Given the description of an element on the screen output the (x, y) to click on. 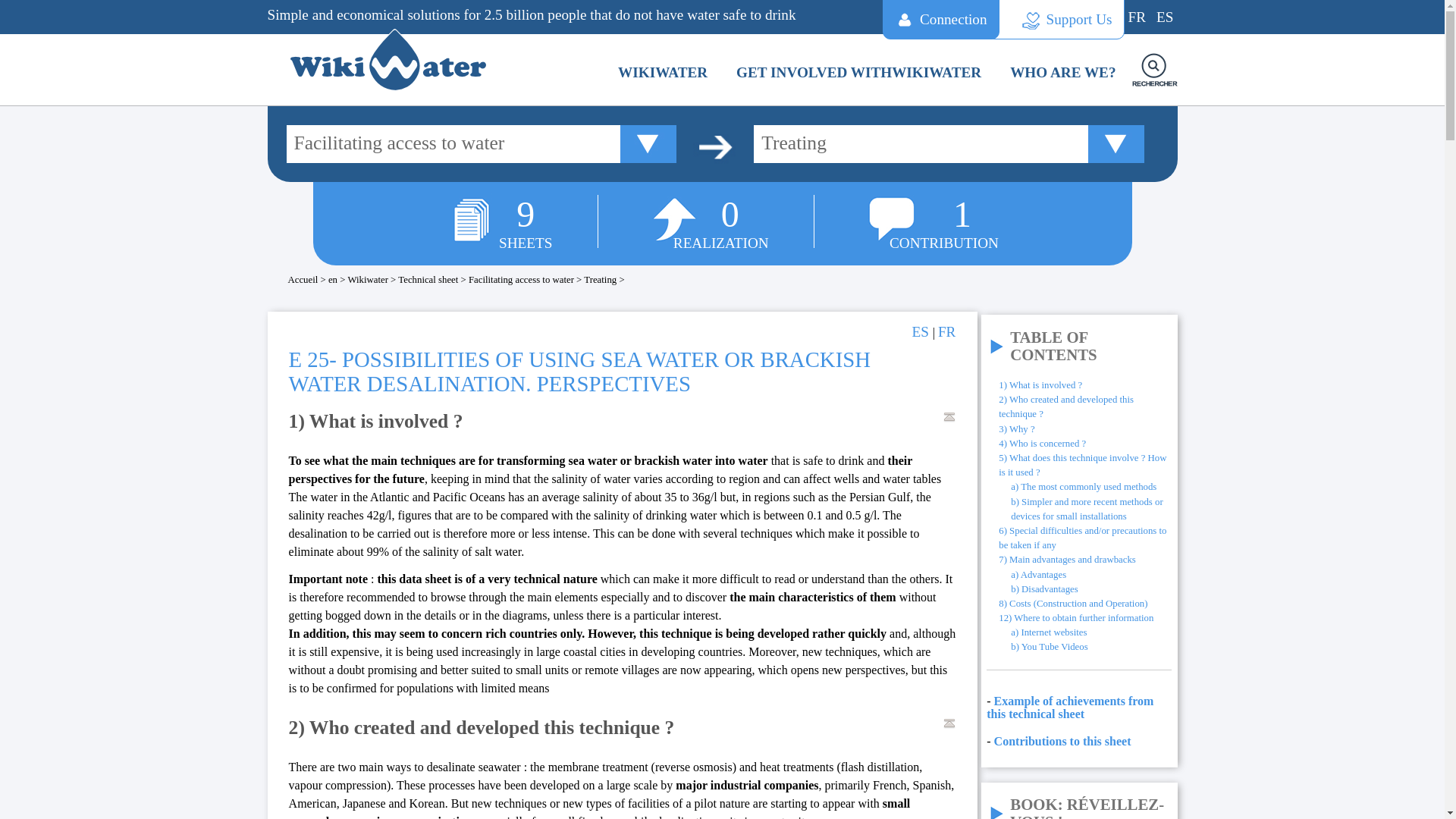
Who are we? (1062, 75)
Vers la page d'accueil (402, 59)
Back to the table of contents (949, 723)
GET INVOLVED WITHWIKIWATER (858, 75)
Get involved withWikiwater     (858, 75)
Connection (940, 19)
FR (1137, 17)
Back to the table of contents (949, 417)
WIKIWATER (662, 75)
Support Us (1055, 19)
Wikiwater (662, 75)
WHO ARE WE? (1062, 75)
ES (1164, 17)
